Given the description of an element on the screen output the (x, y) to click on. 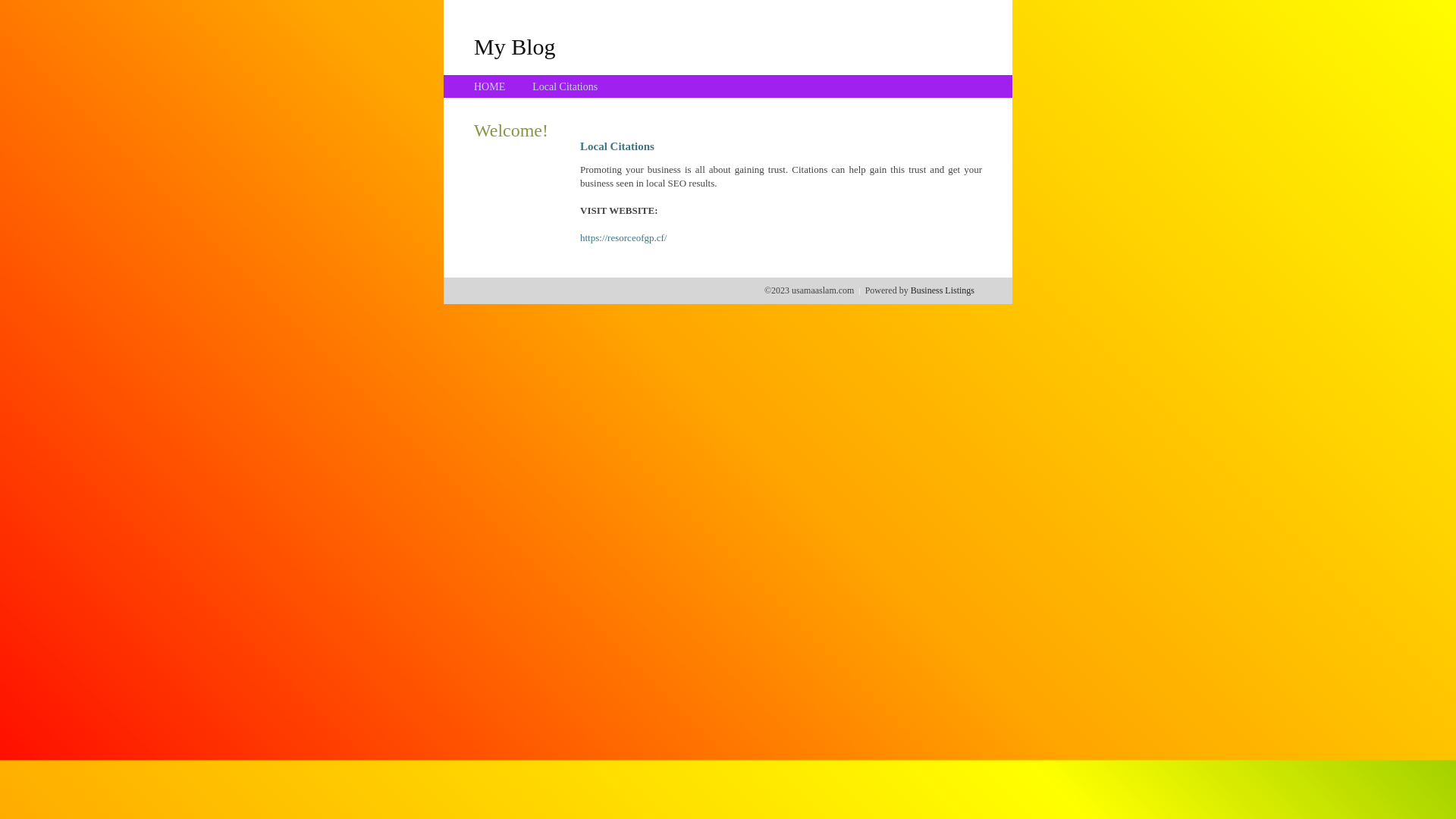
https://resorceofgp.cf/ Element type: text (623, 237)
Business Listings Element type: text (942, 290)
HOME Element type: text (489, 86)
My Blog Element type: text (514, 46)
Local Citations Element type: text (564, 86)
